Given the description of an element on the screen output the (x, y) to click on. 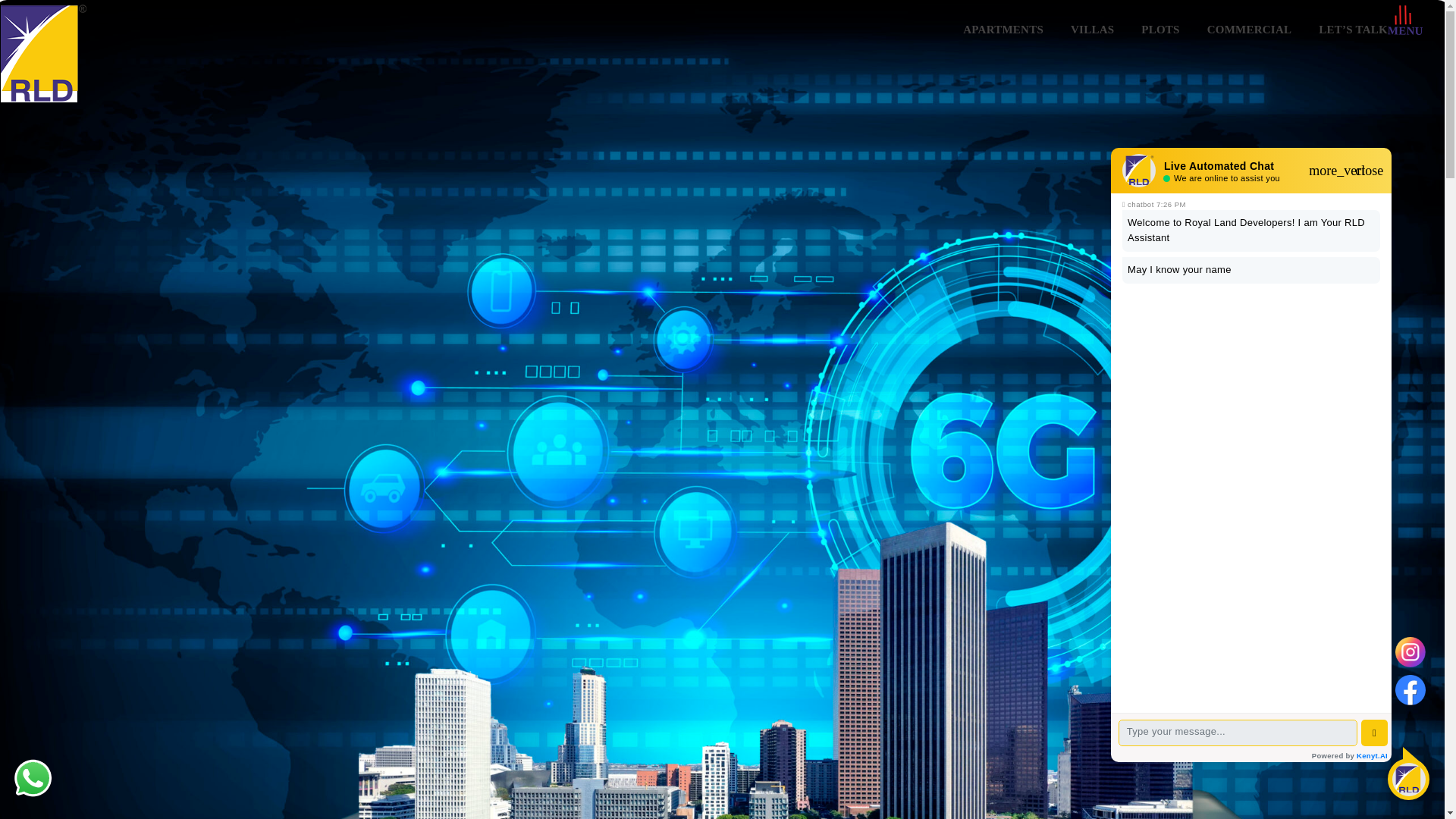
VILLAS (1091, 29)
COMMERCIAL (1249, 29)
APARTMENTS (1003, 29)
MENU (1405, 30)
PLOTS (1159, 29)
